Given the description of an element on the screen output the (x, y) to click on. 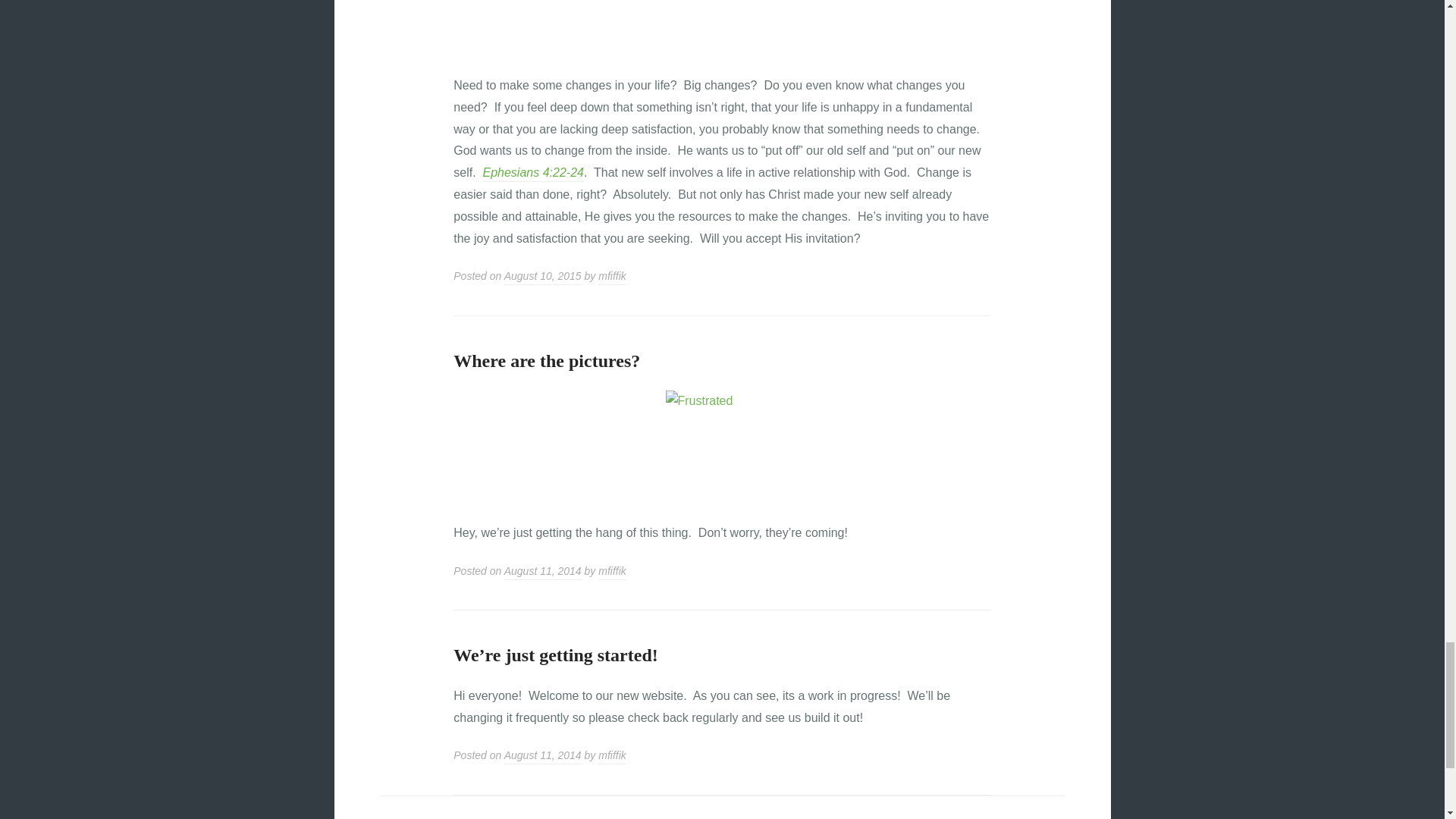
Updated on: August 11, 2014 (541, 756)
A New Life in Christ (532, 173)
Updated on: August 11, 2014 (541, 572)
Updated on: August 10, 2015 (541, 277)
